Given the description of an element on the screen output the (x, y) to click on. 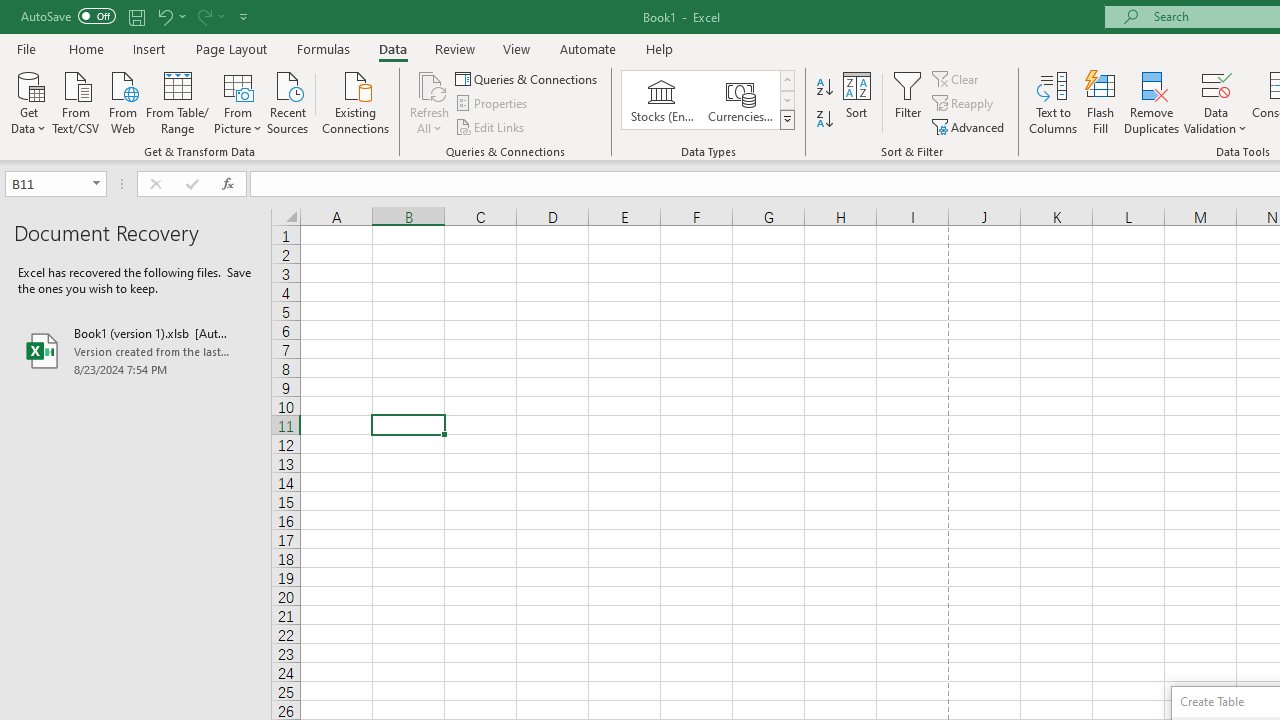
Home (86, 48)
Formulas (323, 48)
View (517, 48)
Class: NetUIImage (787, 119)
Book1 (version 1).xlsb  [AutoRecovered] (136, 350)
File Tab (26, 48)
Row Down (786, 100)
Data Validation... (1215, 102)
Sort A to Z (824, 87)
Get Data (28, 101)
From Picture (238, 101)
Customize Quick Access Toolbar (244, 15)
